Given the description of an element on the screen output the (x, y) to click on. 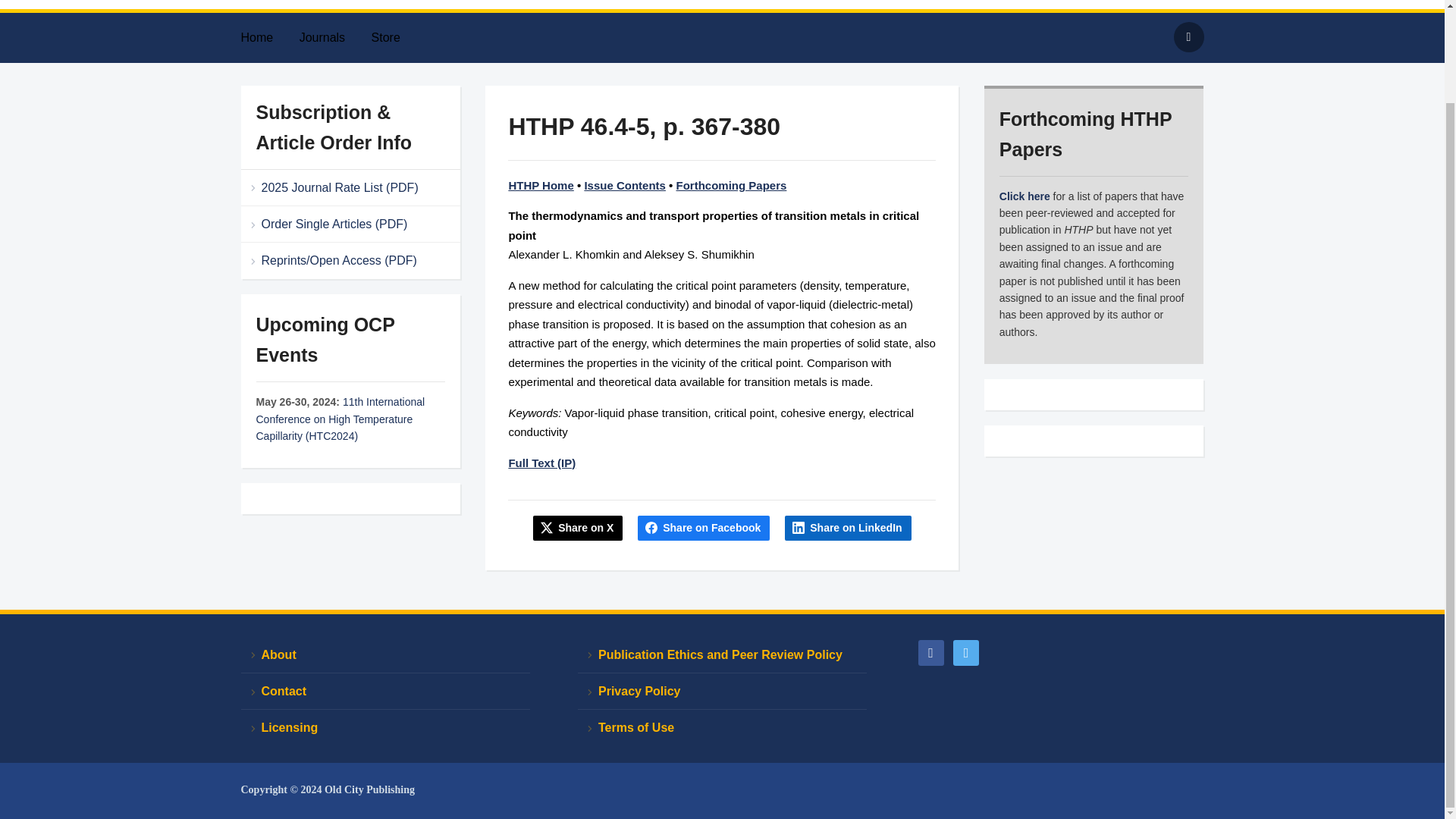
Share on Facebook (703, 527)
Share on X (577, 527)
Share on LinkedIn (847, 527)
Issue Contents (624, 185)
facebook (930, 651)
Publication Ethics and Peer Review Policy (722, 655)
Contact (385, 691)
Home (269, 37)
Terms of Use (722, 727)
Licensing (385, 727)
